Given the description of an element on the screen output the (x, y) to click on. 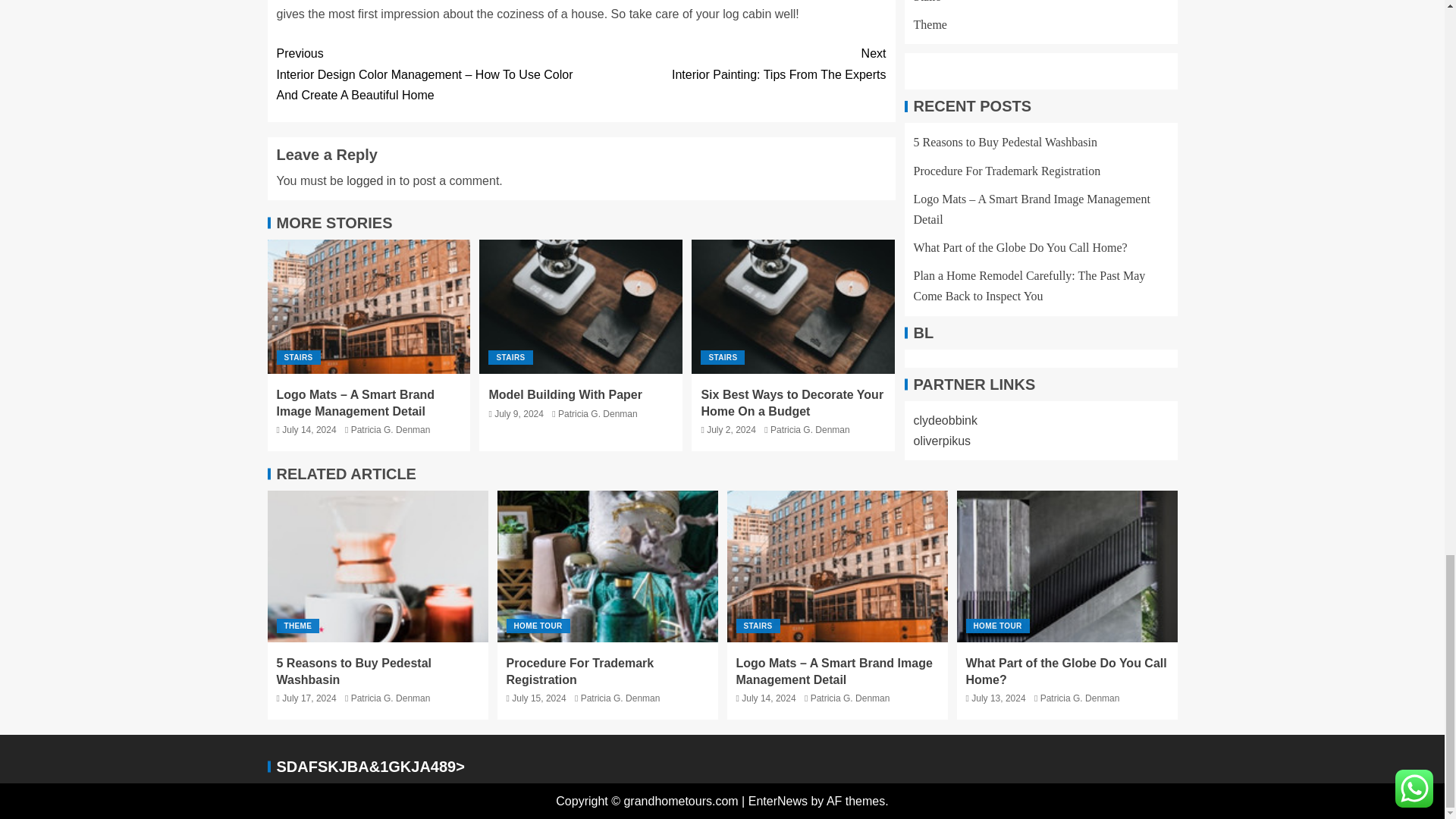
logged in (371, 180)
Patricia G. Denman (390, 429)
STAIRS (298, 357)
Patricia G. Denman (597, 412)
Model Building With Paper (564, 394)
5 Reasons to Buy Pedestal Washbasin (376, 566)
Model Building With Paper (793, 306)
Procedure For Trademark Registration (607, 566)
STAIRS (509, 357)
Model Building With Paper (580, 306)
Six Best Ways to Decorate Your Home On a Budget (791, 402)
STAIRS (722, 357)
What Part of the Globe Do You Call Home? (732, 63)
Patricia G. Denman (1066, 566)
